Given the description of an element on the screen output the (x, y) to click on. 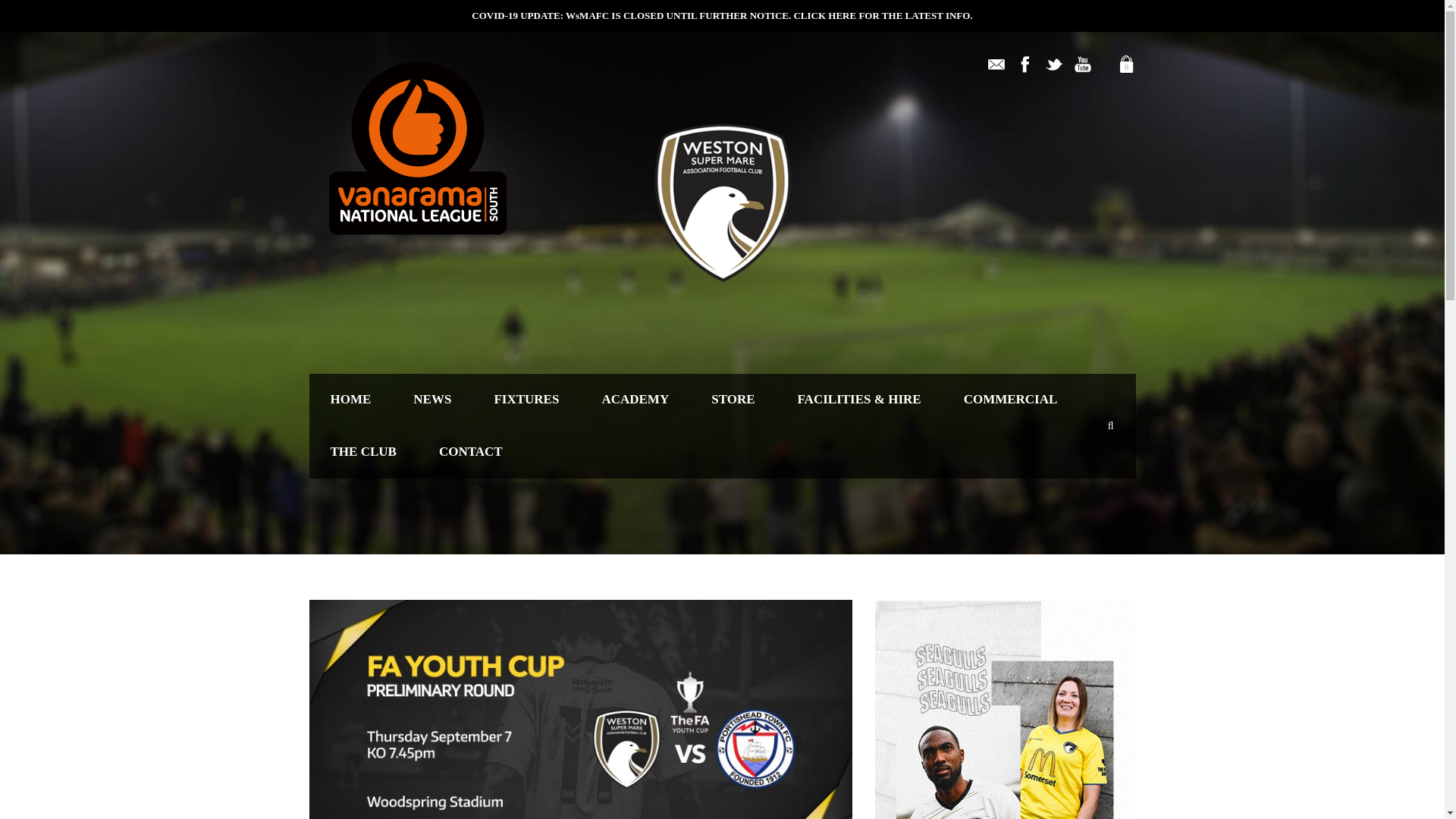
new-date-fa-youth-cup-v-portishead (580, 709)
